Given the description of an element on the screen output the (x, y) to click on. 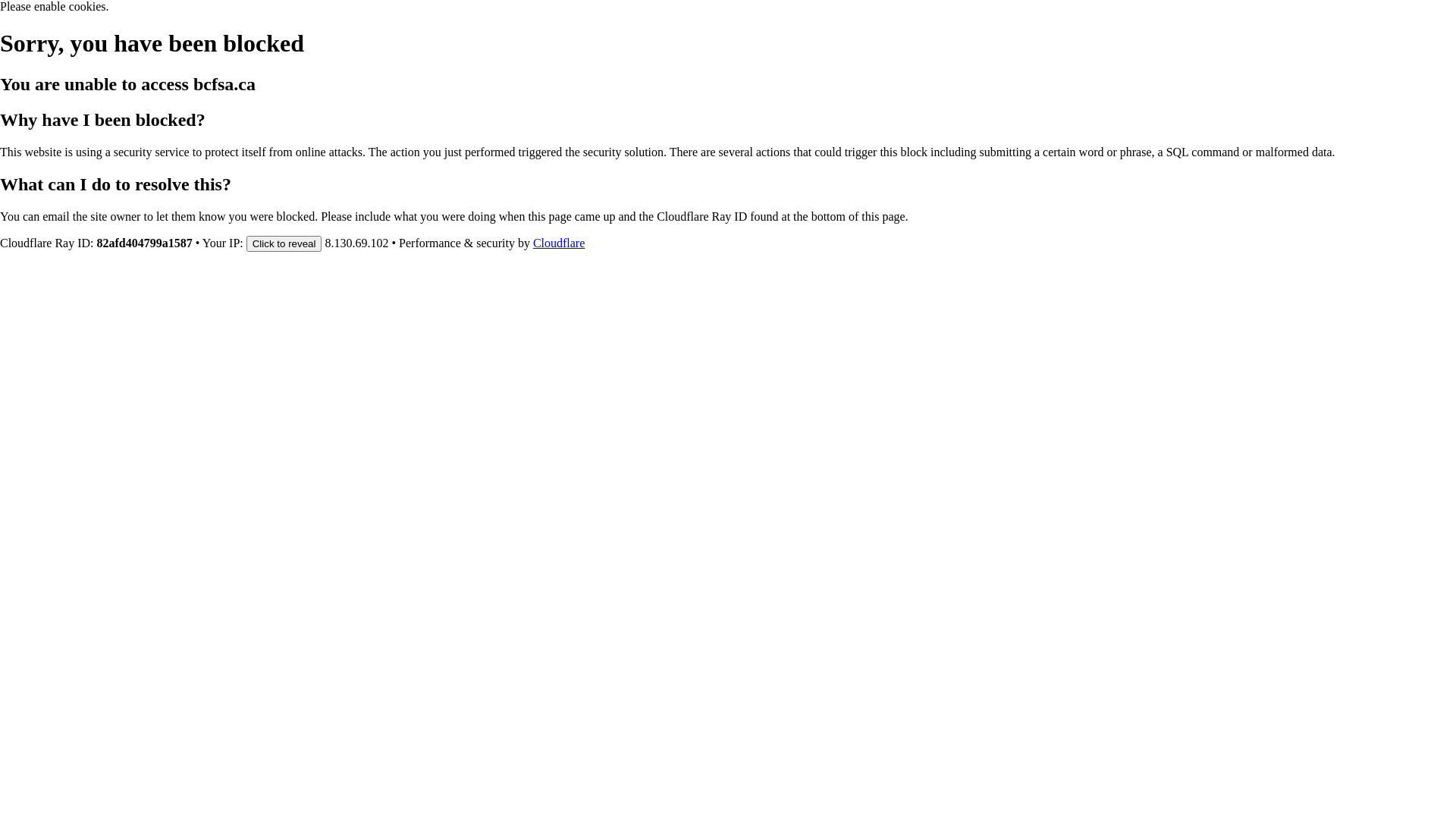
Click to reveal Element type: text (284, 243)
Cloudflare Element type: text (558, 242)
